Given the description of an element on the screen output the (x, y) to click on. 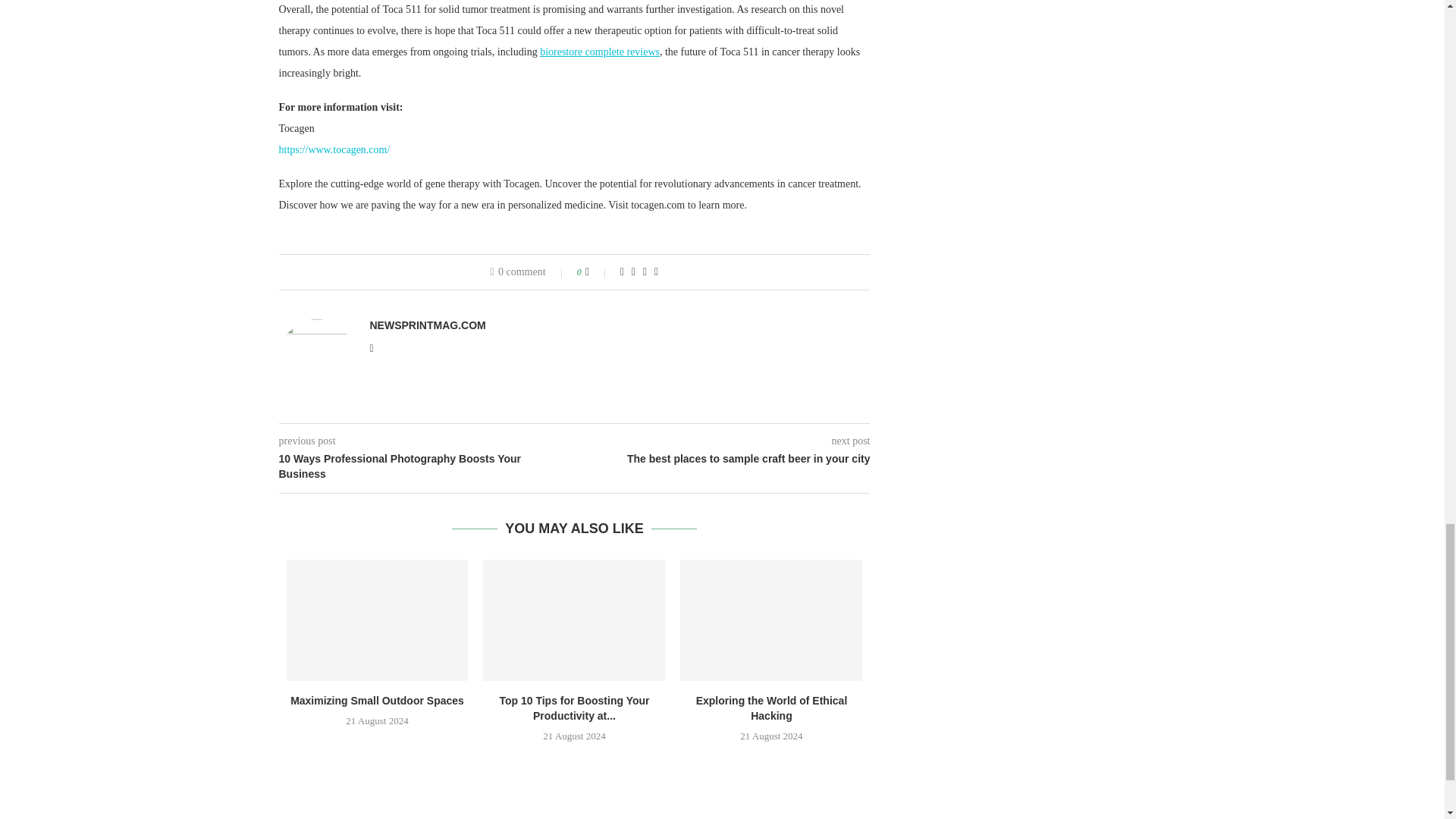
Author newsprintmag.com (427, 325)
Exploring the World of Ethical Hacking (770, 619)
Maximizing Small Outdoor Spaces (377, 619)
Like (597, 272)
biorestore complete reviews (599, 51)
Top 10 Tips for Boosting Your Productivity at Work (574, 619)
